Given the description of an element on the screen output the (x, y) to click on. 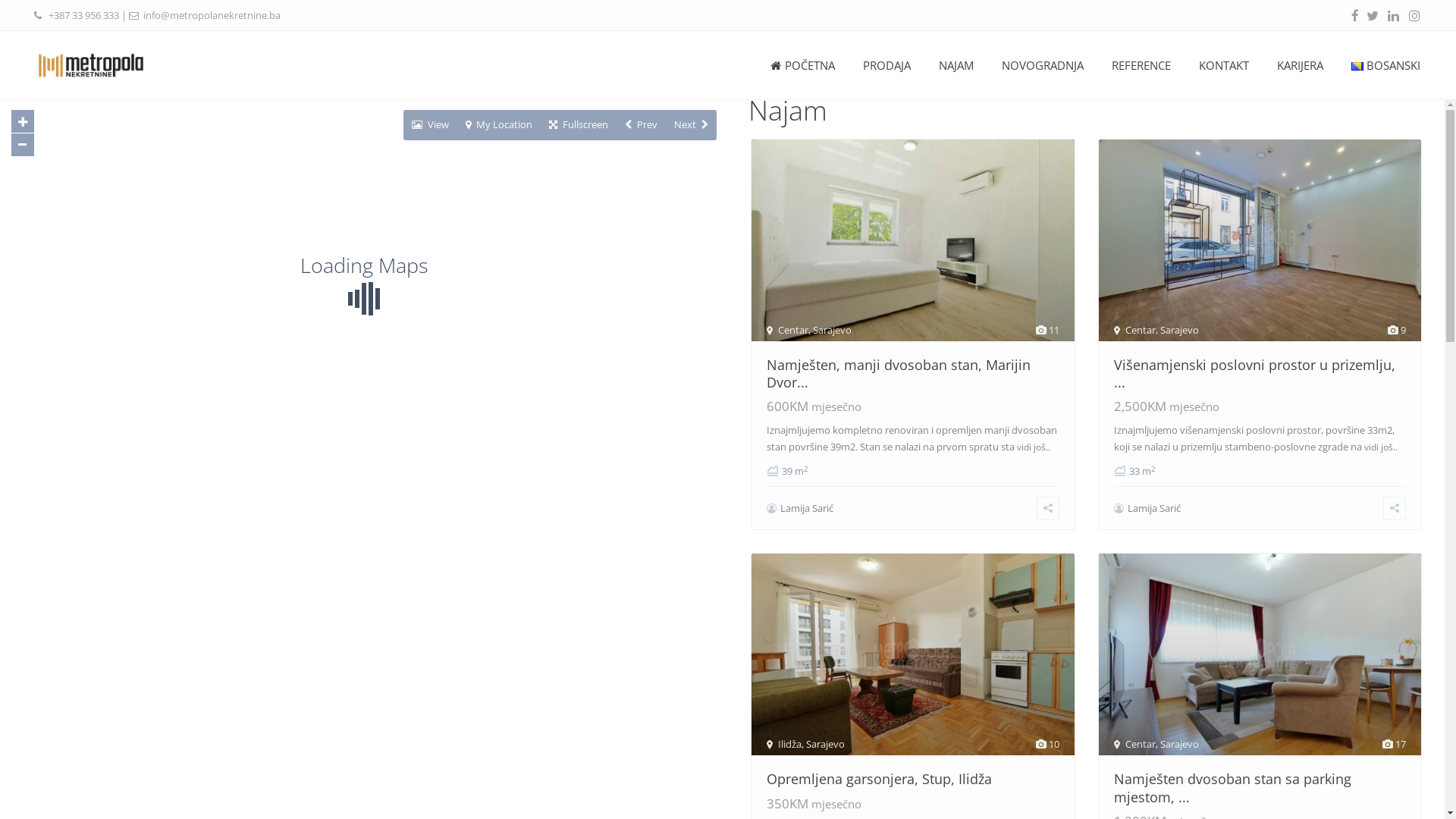
Sarajevo Element type: text (1179, 743)
Centar Element type: text (793, 329)
NOVOGRADNJA Element type: text (1042, 65)
KARIJERA Element type: text (1299, 65)
Sarajevo Element type: text (825, 743)
Centar Element type: text (1140, 329)
NAJAM Element type: text (955, 65)
BOSANSKI Element type: text (1385, 65)
REFERENCE Element type: text (1140, 65)
KONTAKT Element type: text (1223, 65)
Sarajevo Element type: text (831, 329)
PRODAJA Element type: text (885, 65)
Sarajevo Element type: text (1179, 329)
Centar Element type: text (1140, 743)
+387 33 956 333 Element type: text (83, 15)
